Given the description of an element on the screen output the (x, y) to click on. 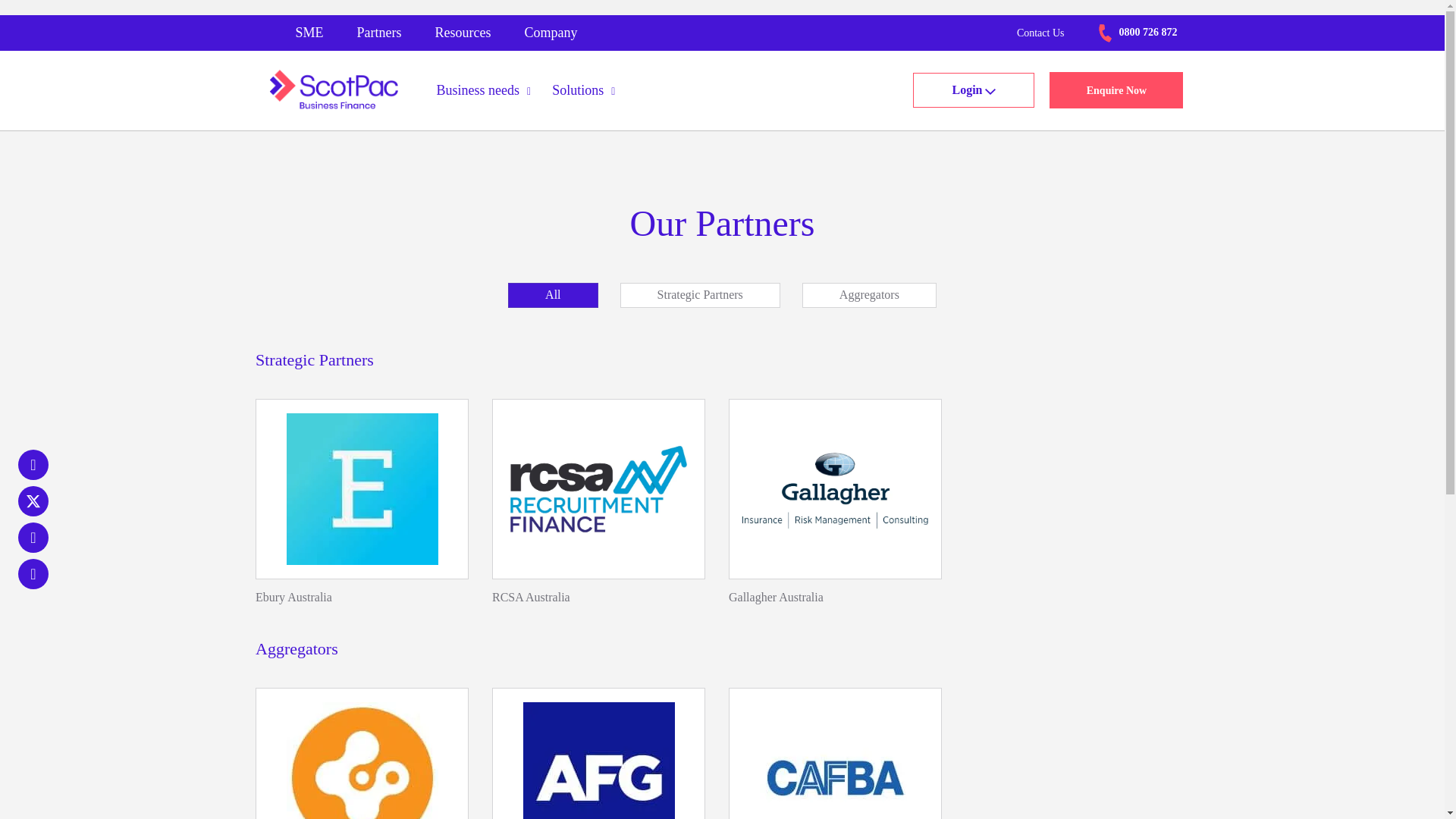
Resources (463, 32)
Company (550, 32)
Partners (379, 32)
Contact Us (1040, 32)
Solutions (583, 90)
Business needs (483, 90)
Login (972, 89)
SME (309, 32)
